Given the description of an element on the screen output the (x, y) to click on. 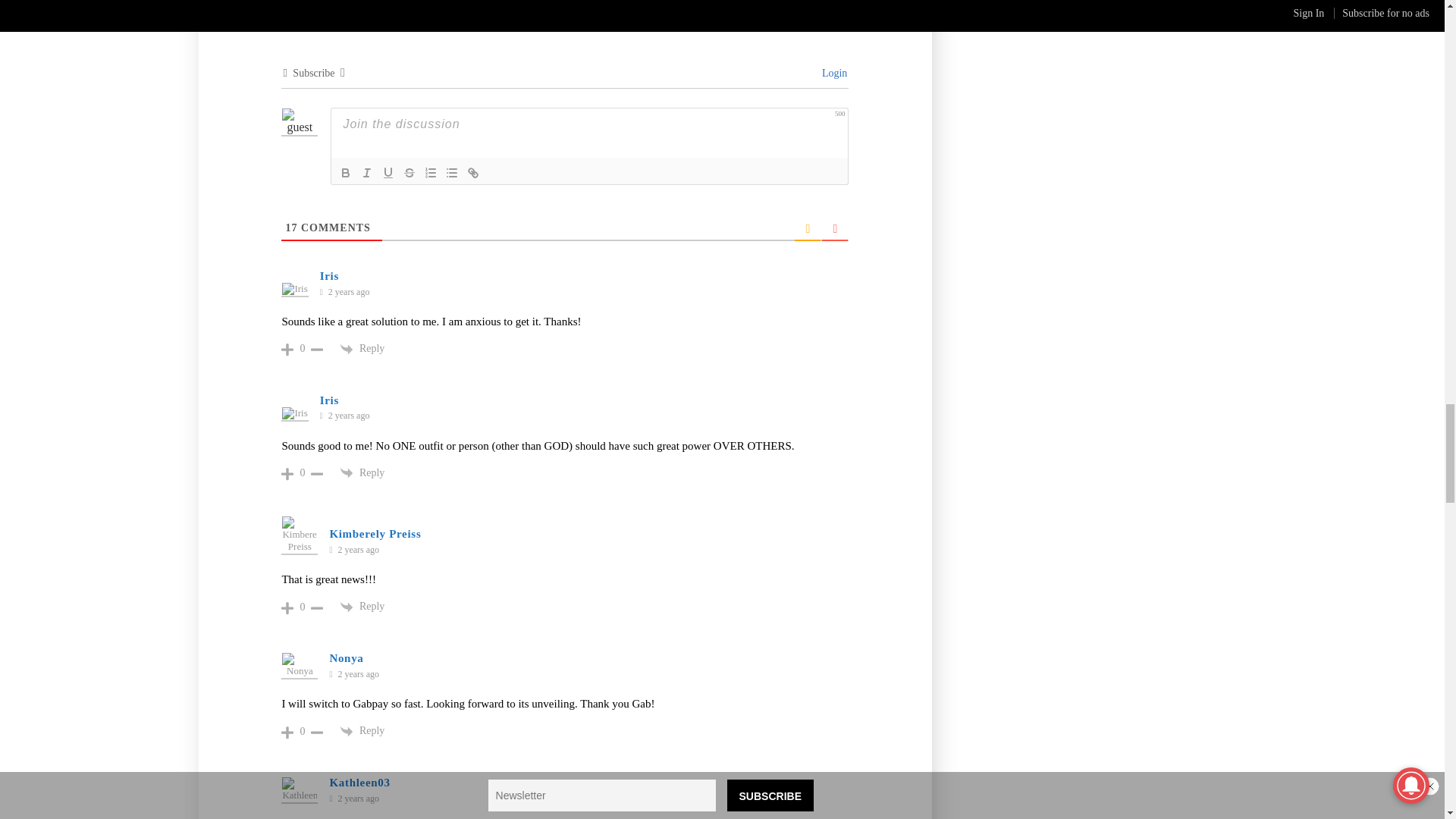
Unordered List (452, 172)
Strike (409, 172)
Bold (345, 172)
Italic (366, 172)
17 (291, 227)
Link (473, 172)
Ordered List (430, 172)
Underline (387, 172)
